Given the description of an element on the screen output the (x, y) to click on. 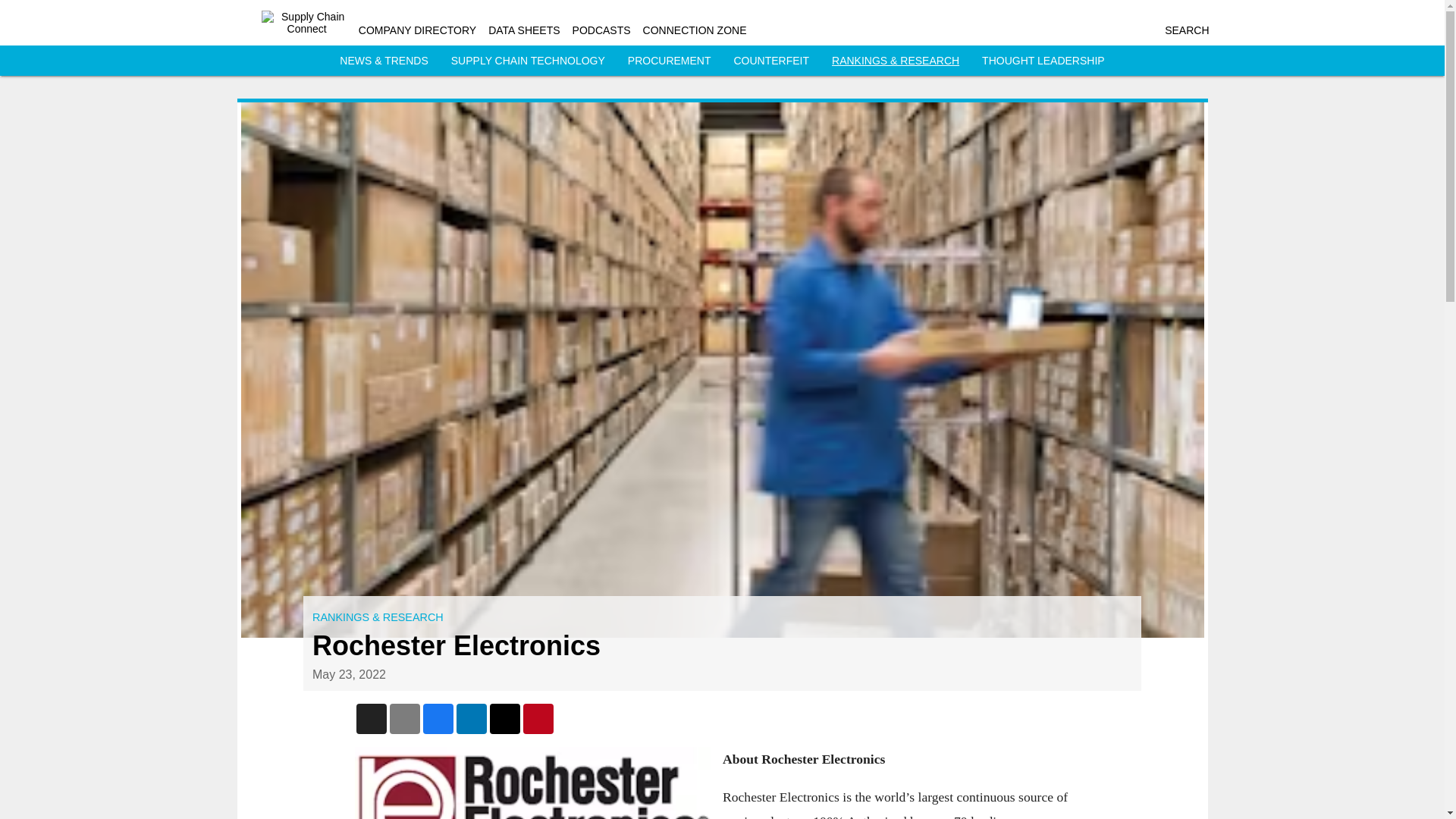
DATA SHEETS (523, 30)
Rochester Electronics (532, 782)
COUNTERFEIT (771, 60)
PROCUREMENT (669, 60)
SUPPLY CHAIN TECHNOLOGY (528, 60)
PODCASTS (601, 30)
CONNECTION ZONE (694, 30)
SEARCH (1186, 30)
THOUGHT LEADERSHIP (1043, 60)
